Given the description of an element on the screen output the (x, y) to click on. 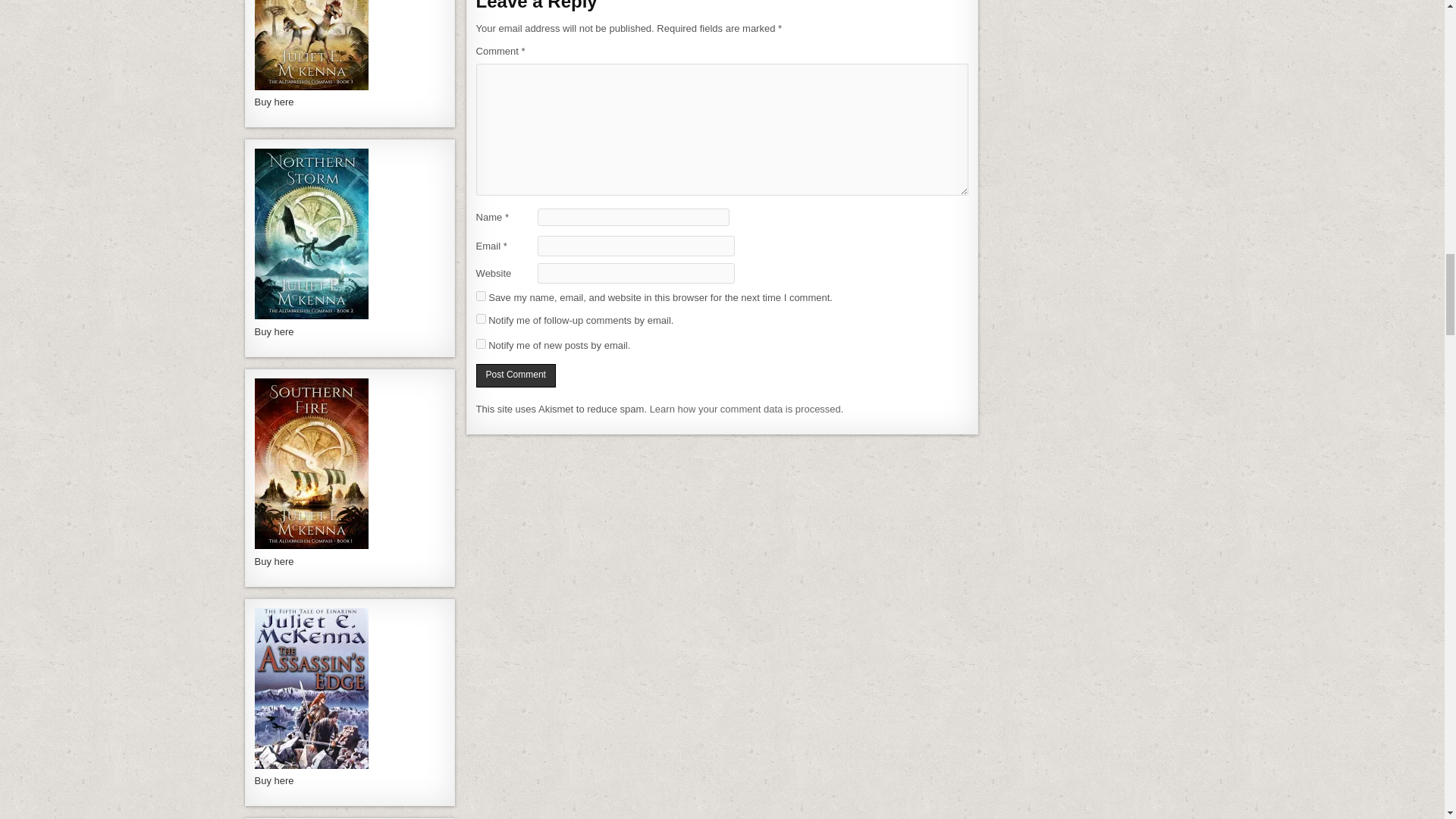
subscribe (481, 318)
yes (481, 296)
subscribe (481, 343)
Post Comment (516, 375)
